Given the description of an element on the screen output the (x, y) to click on. 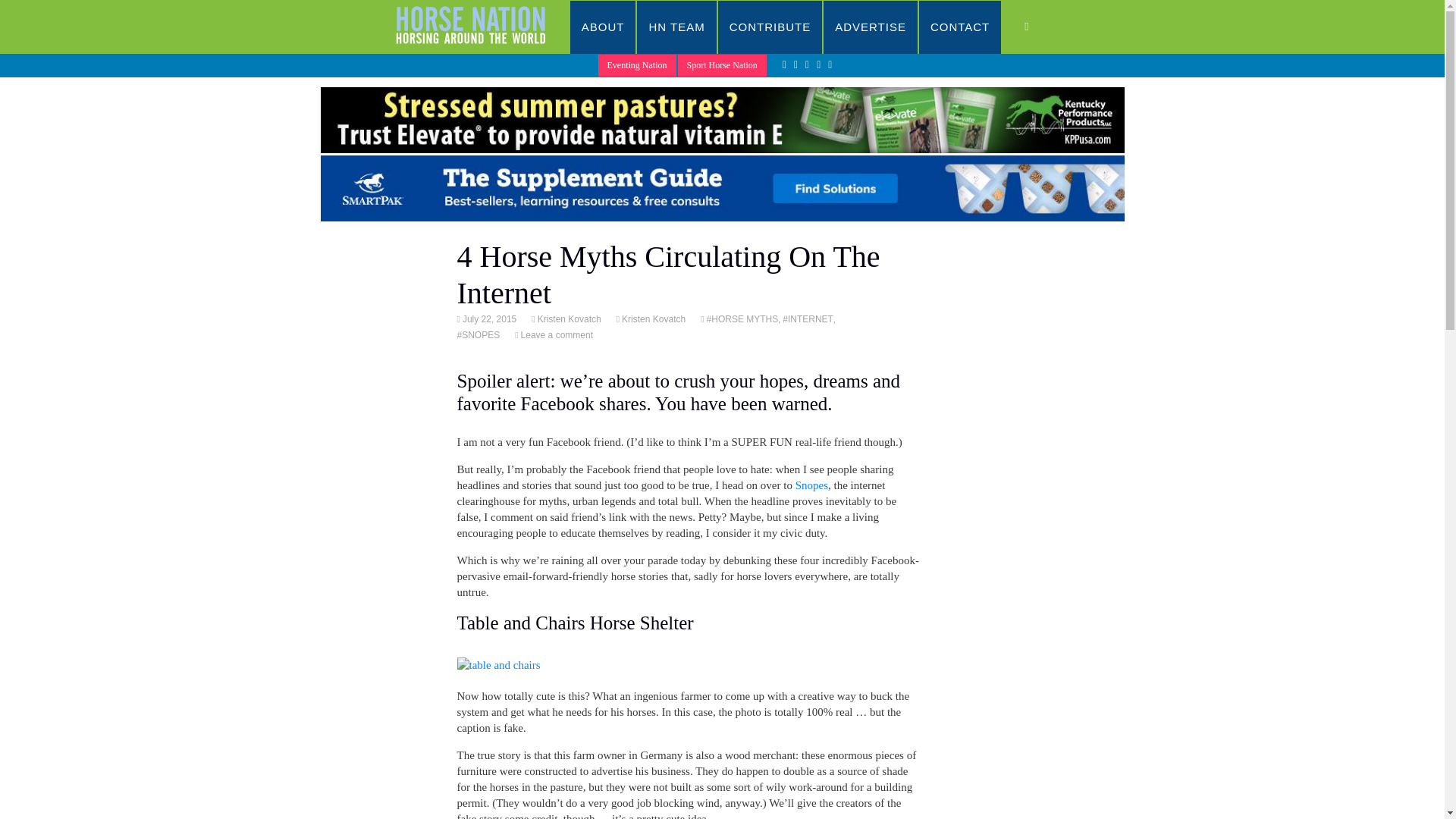
HN TEAM (676, 27)
Eventing Nation (637, 65)
Permalink to 4 Horse Myths Circulating On The Internet (488, 318)
ABOUT (603, 27)
ADVERTISE (870, 27)
Snopes (811, 485)
Kristen Kovatch (652, 318)
Leave a comment (555, 335)
SEARCH (1041, 27)
CONTACT (959, 27)
CONTRIBUTE (769, 27)
View all posts by Kristen Kovatch (568, 318)
Kristen Kovatch (568, 318)
Sport Horse Nation (722, 65)
July 22, 2015 (488, 318)
